Given the description of an element on the screen output the (x, y) to click on. 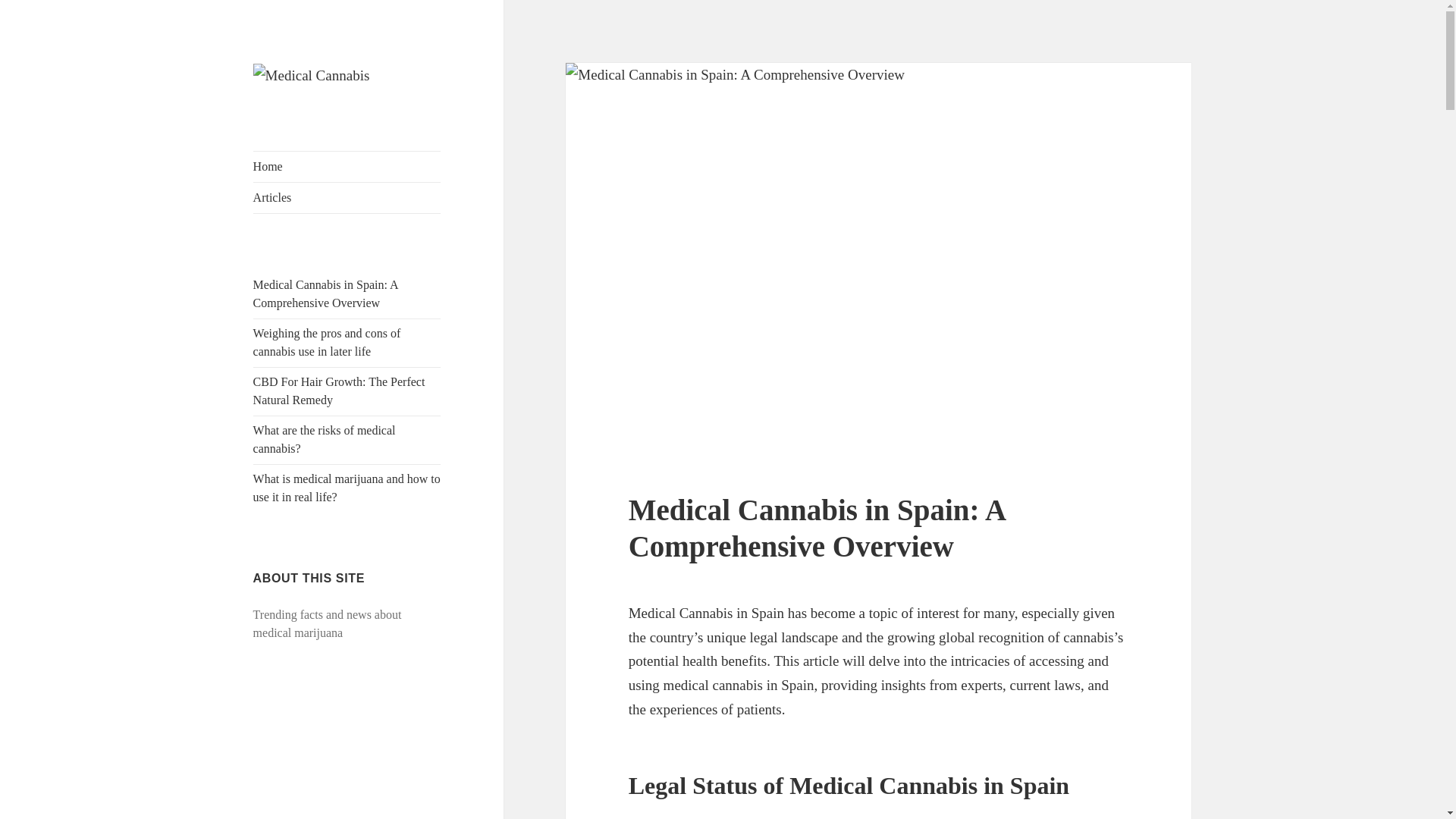
CBD For Hair Growth: The Perfect Natural Remedy (339, 390)
Medical Cannabis (339, 111)
What are the risks of medical cannabis? (324, 439)
Weighing the pros and cons of cannabis use in later life (327, 341)
Medical Cannabis in Spain: A Comprehensive Overview (816, 527)
What is medical marijuana and how to use it in real life? (347, 487)
Articles (347, 197)
Home (347, 166)
Medical Cannabis in Spain: A Comprehensive Overview (325, 293)
